Given the description of an element on the screen output the (x, y) to click on. 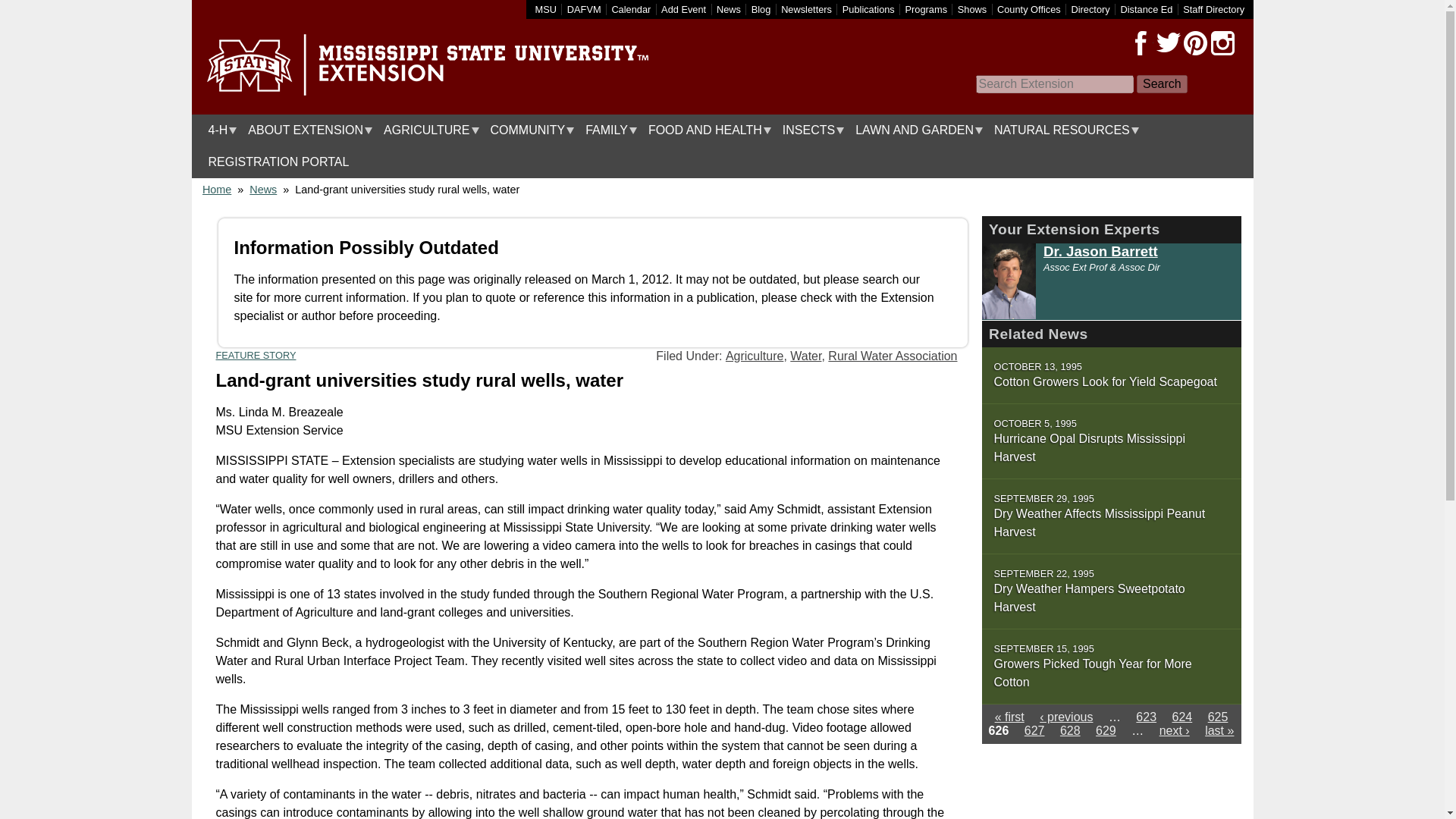
Search (1162, 84)
Link to Mississippi State University (545, 9)
Facebook (1140, 43)
News (728, 9)
4-H (218, 130)
The main event calendar for the MSU Extension Service (630, 9)
Publications (869, 9)
Twitter (1167, 43)
Shows (972, 9)
Blog (761, 9)
